Given the description of an element on the screen output the (x, y) to click on. 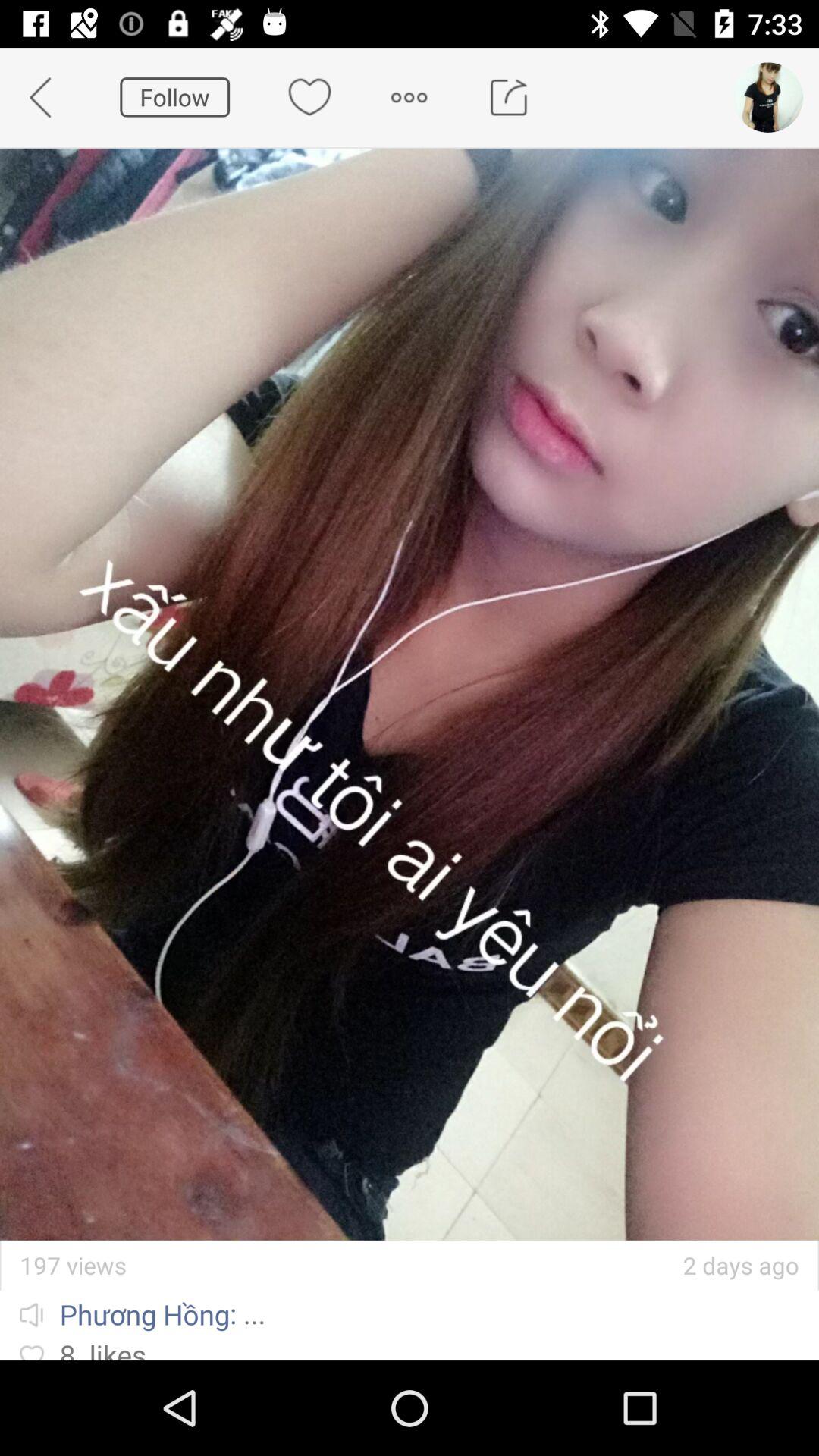
choose the icon at the center (409, 694)
